Given the description of an element on the screen output the (x, y) to click on. 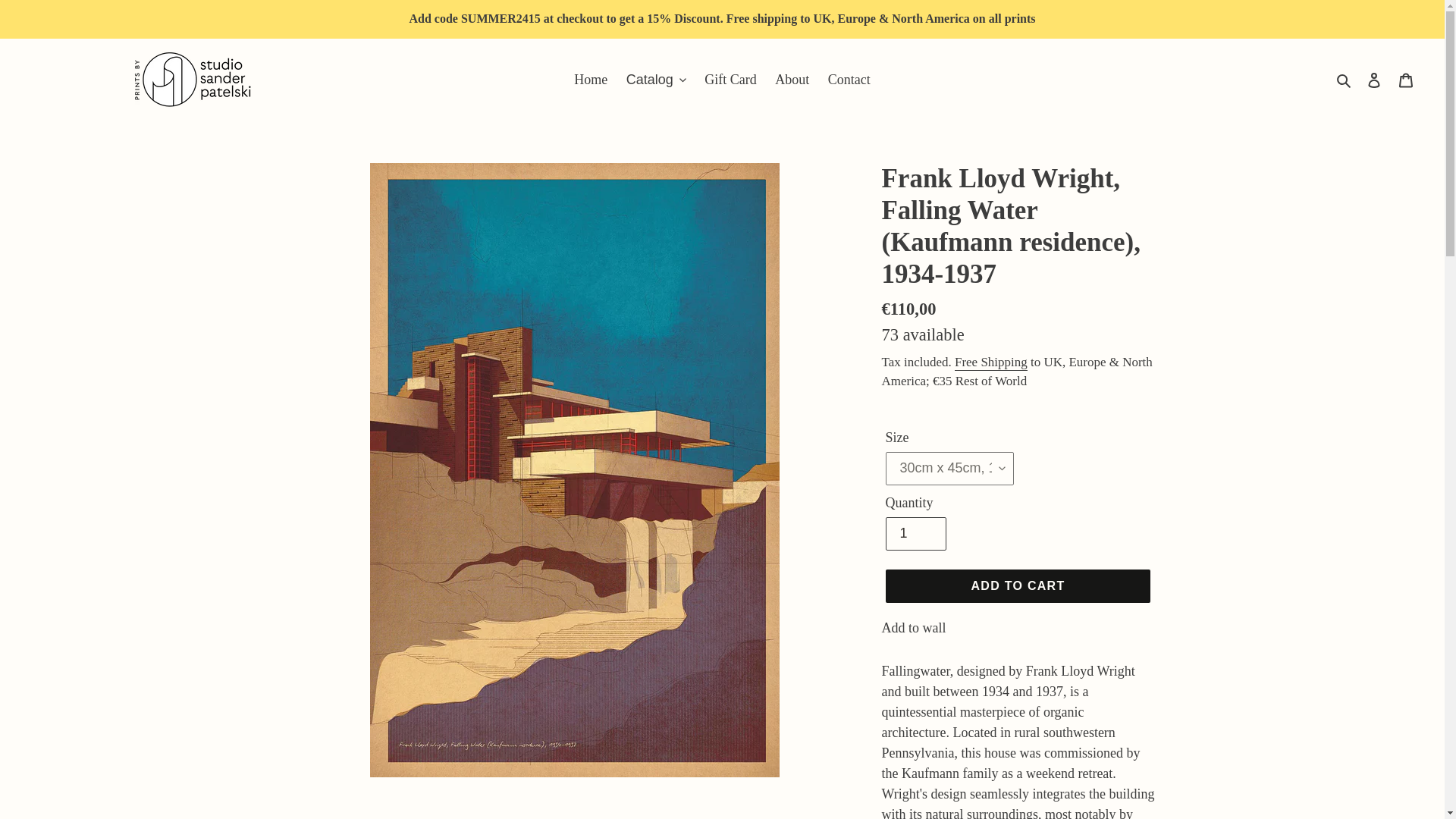
Cart (1406, 79)
Search (1345, 78)
Catalog (656, 78)
Home (590, 78)
About (791, 78)
Log in (1374, 79)
Gift Card (729, 78)
1 (915, 533)
Contact (849, 78)
